Given the description of an element on the screen output the (x, y) to click on. 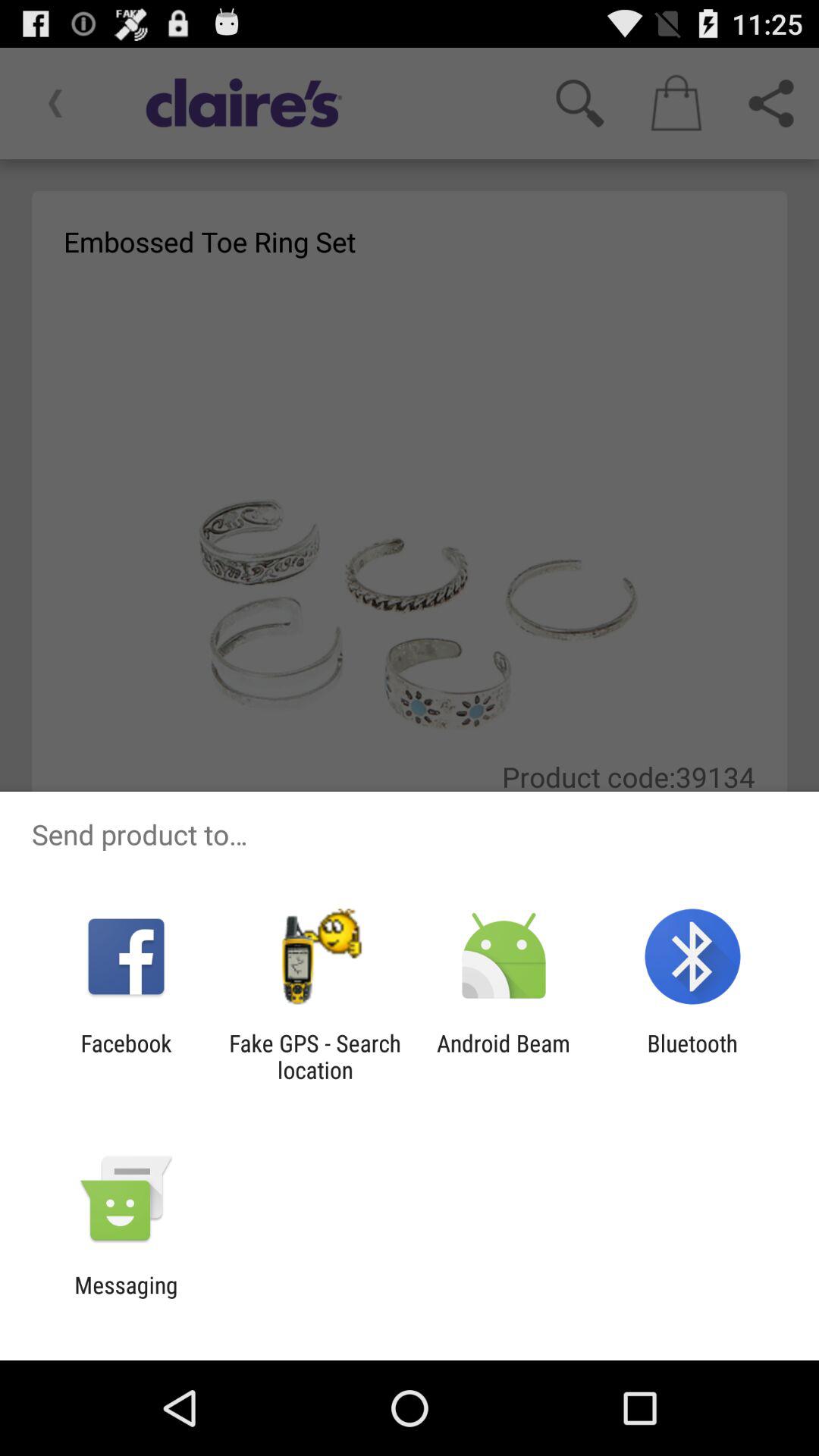
tap the app next to facebook app (314, 1056)
